Given the description of an element on the screen output the (x, y) to click on. 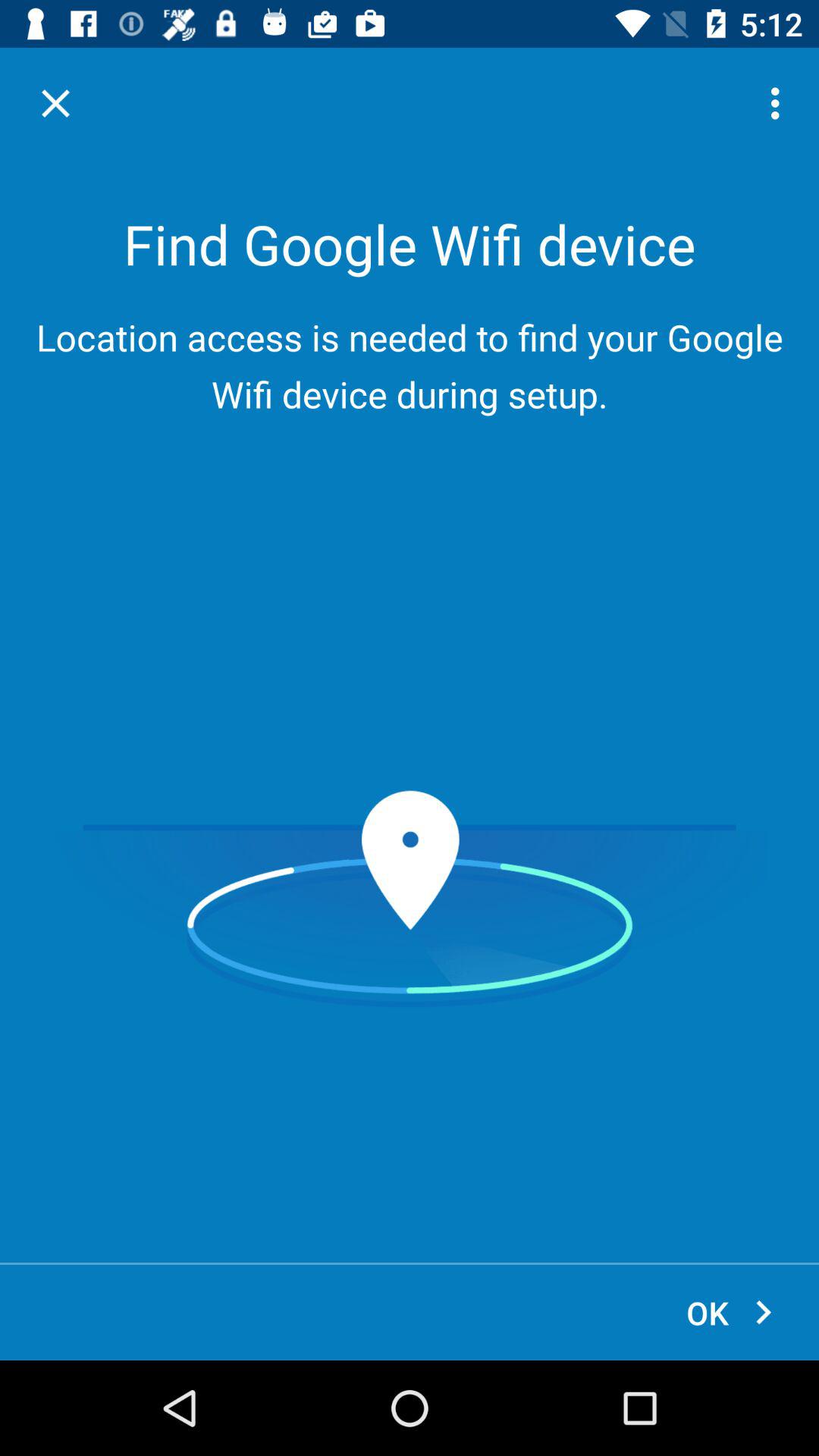
launch the item at the top left corner (55, 103)
